Given the description of an element on the screen output the (x, y) to click on. 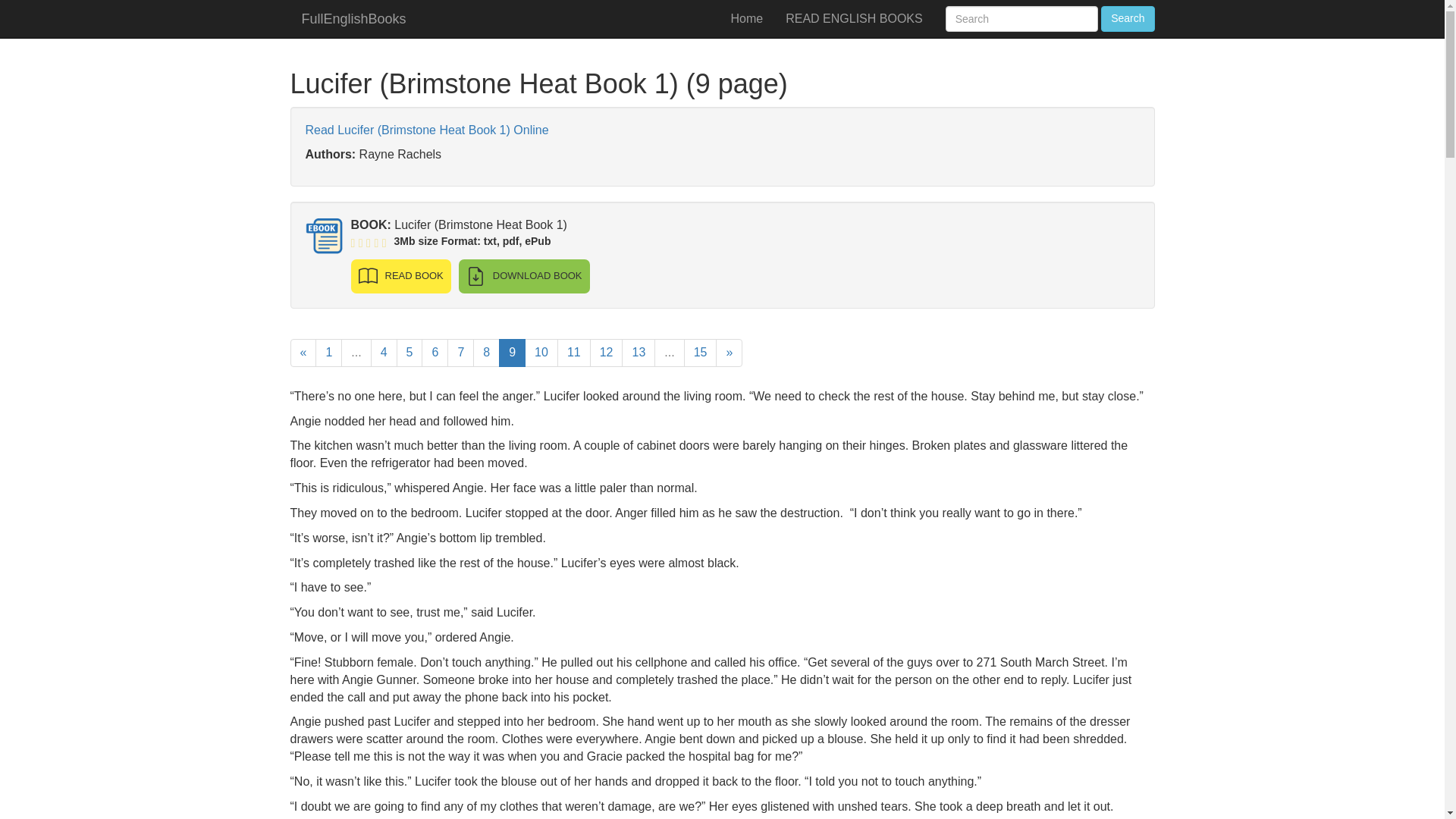
FullEnglishBooks (352, 18)
READ ENGLISH BOOKS (854, 18)
DOWNLOAD BOOK (523, 276)
9 (512, 352)
13 (638, 352)
4 (384, 352)
12 (606, 352)
6 (435, 352)
7 (460, 352)
5 (409, 352)
